Given the description of an element on the screen output the (x, y) to click on. 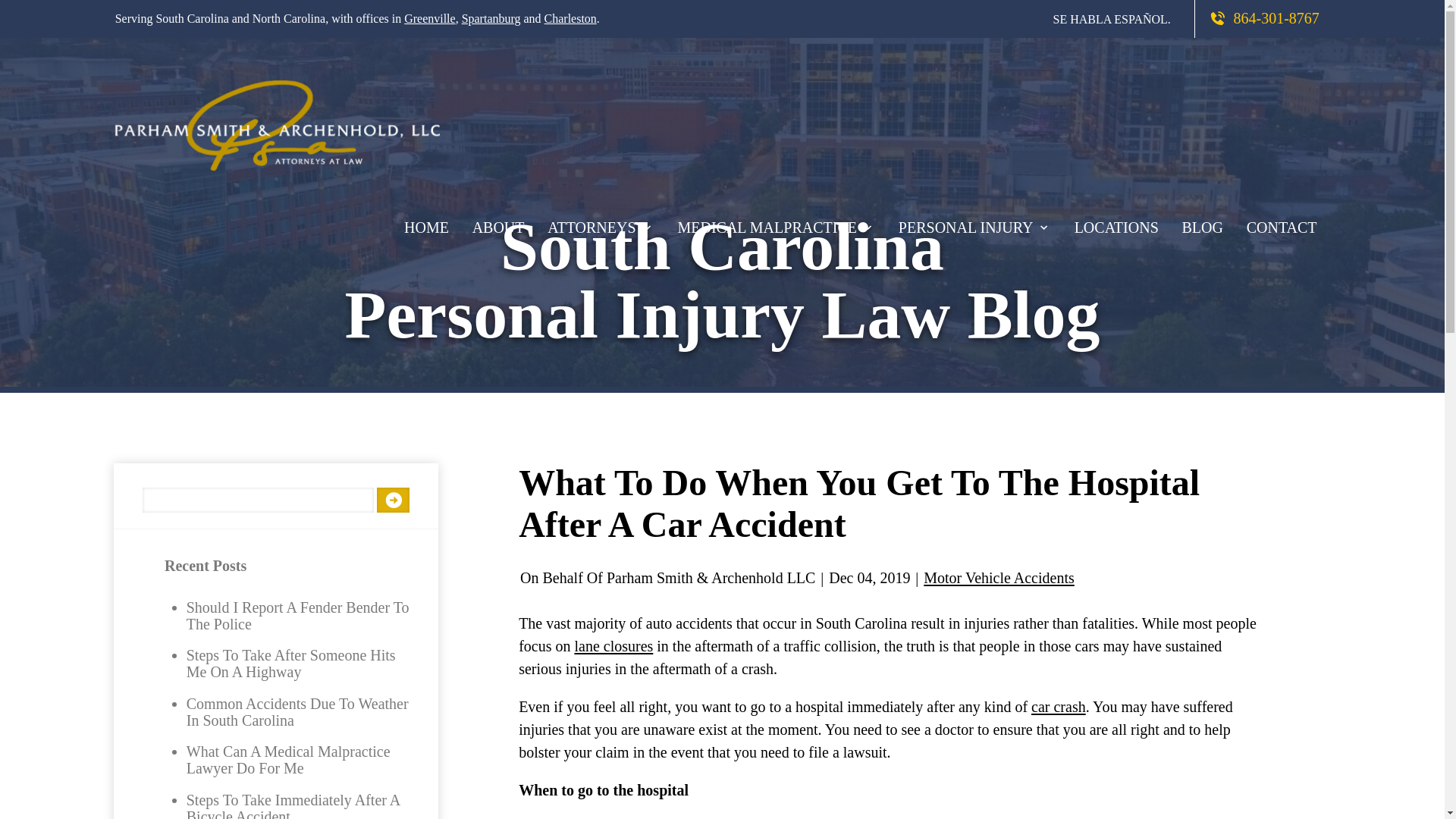
HOME (427, 225)
Spartanburg (491, 18)
ABOUT (497, 225)
MEDICAL MALPRACTICE (775, 225)
Greenville (429, 18)
PERSONAL INJURY (974, 225)
ATTORNEYS (600, 225)
Charleston (570, 18)
search (393, 499)
864-301-8767 (1246, 17)
